Given the description of an element on the screen output the (x, y) to click on. 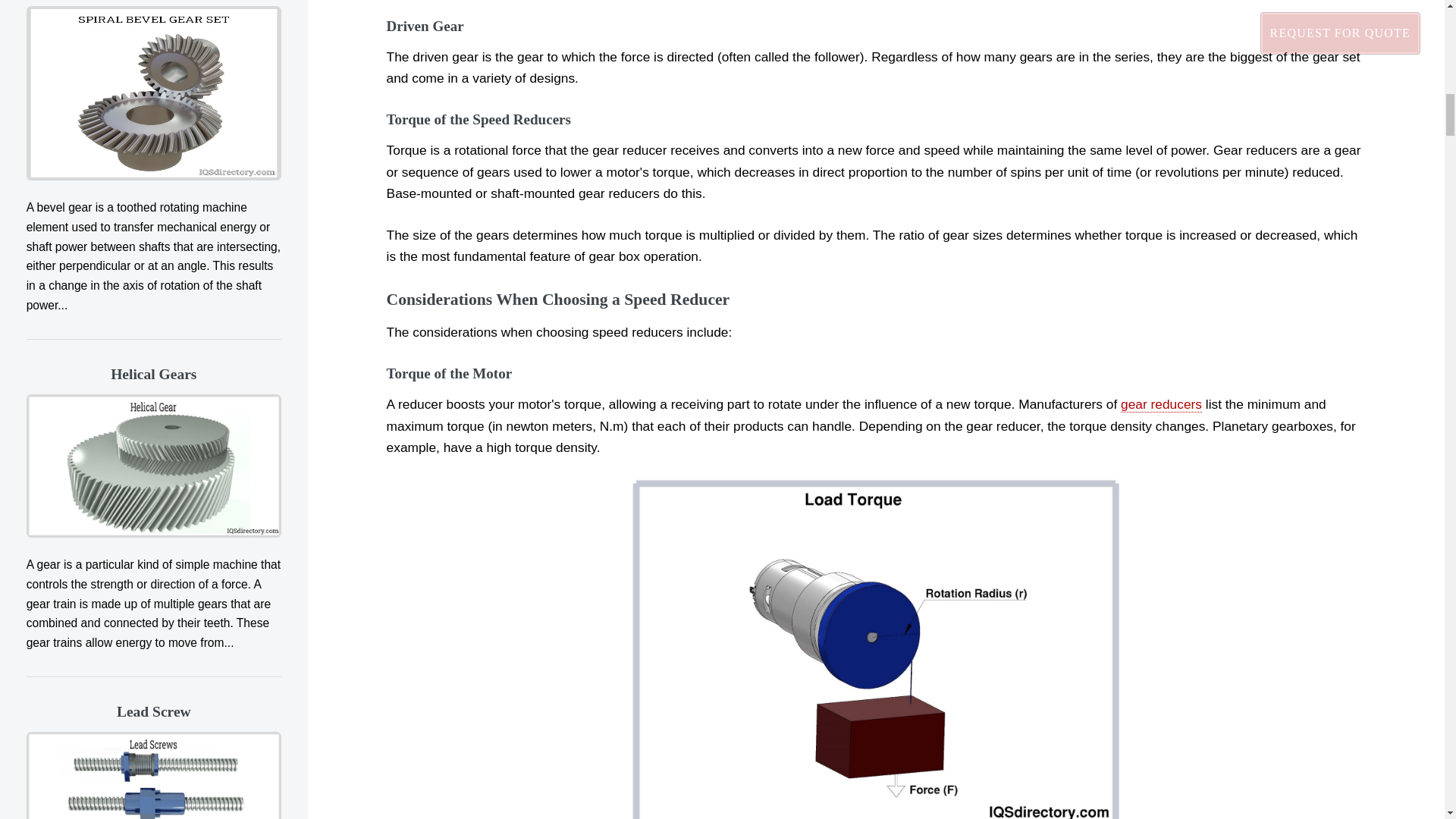
gear reducers (1161, 404)
More Information on Gear Reducers (1161, 404)
